Given the description of an element on the screen output the (x, y) to click on. 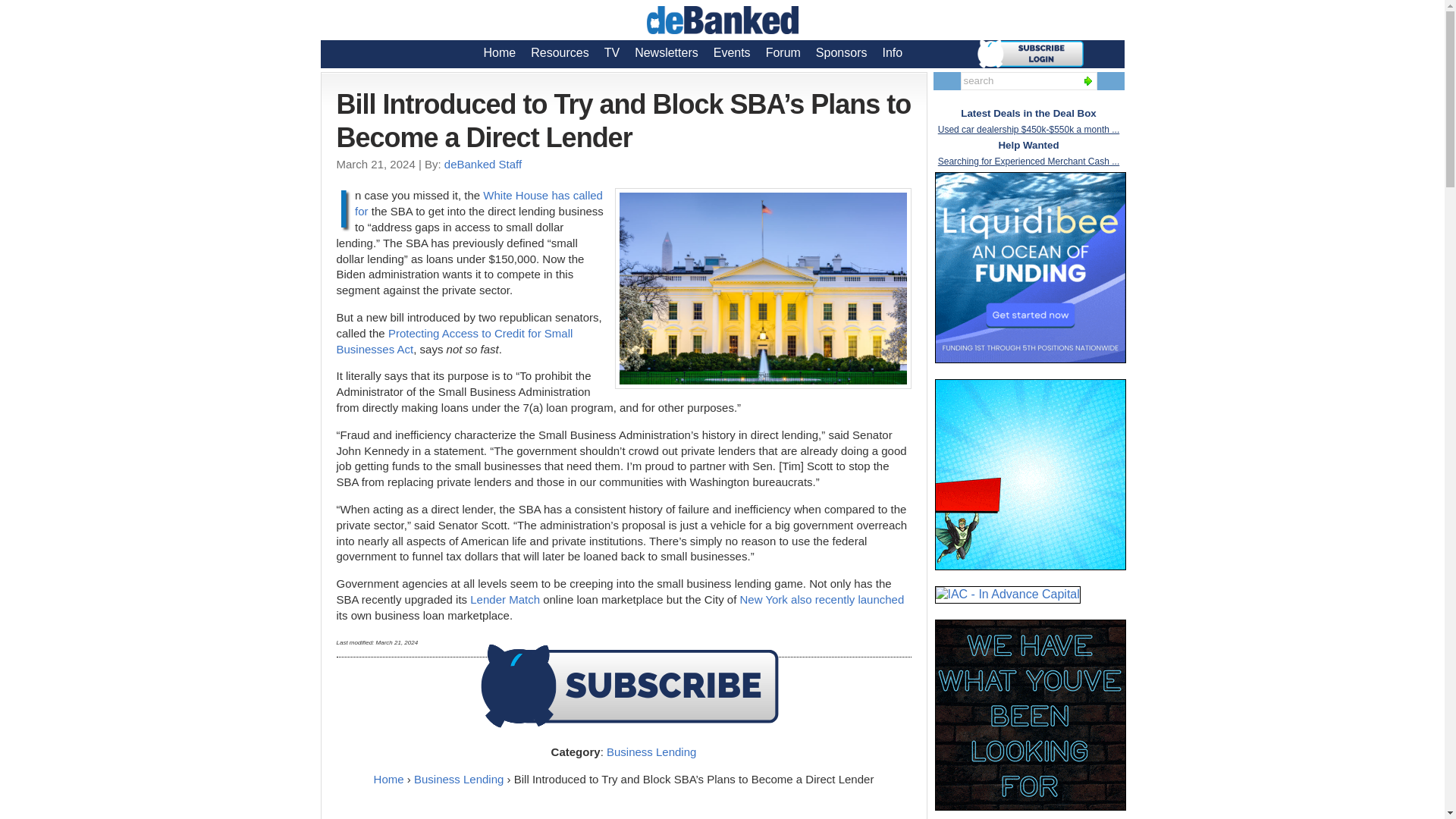
Posts by deBanked Staff (482, 164)
Events (732, 52)
Forum (783, 52)
search (1018, 81)
New York also recently launched (821, 599)
Resources (558, 52)
IAC - In Advance Capital (1007, 594)
Home (500, 52)
Merchant Financing Leads (1029, 474)
Home (389, 779)
